Given the description of an element on the screen output the (x, y) to click on. 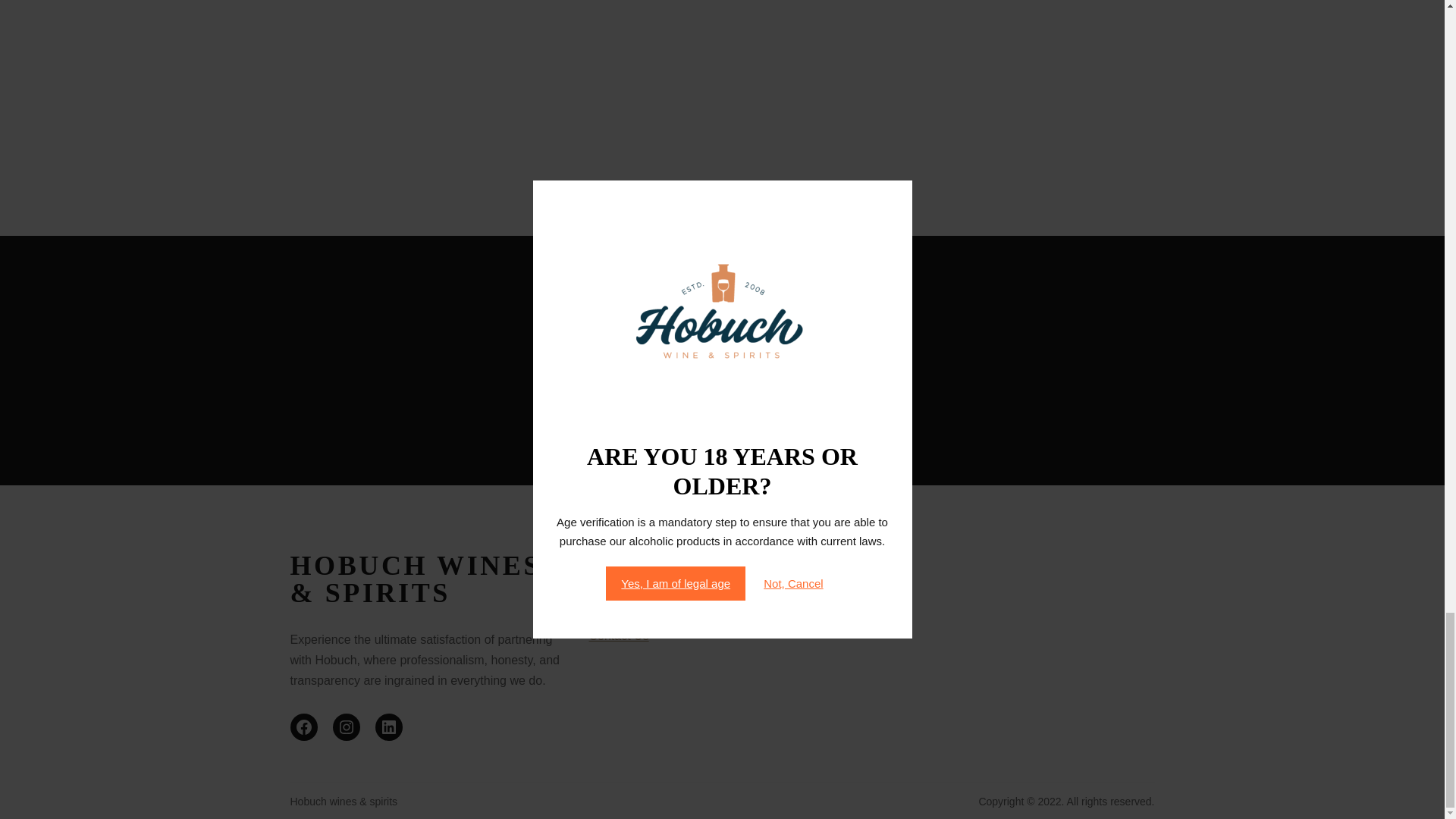
Facebook (303, 727)
Home (604, 590)
E-SHOP (609, 621)
The Market By Hobuch (650, 599)
LinkedIn (387, 727)
HWS Alcool shop (635, 608)
Instagram (345, 727)
